Given the description of an element on the screen output the (x, y) to click on. 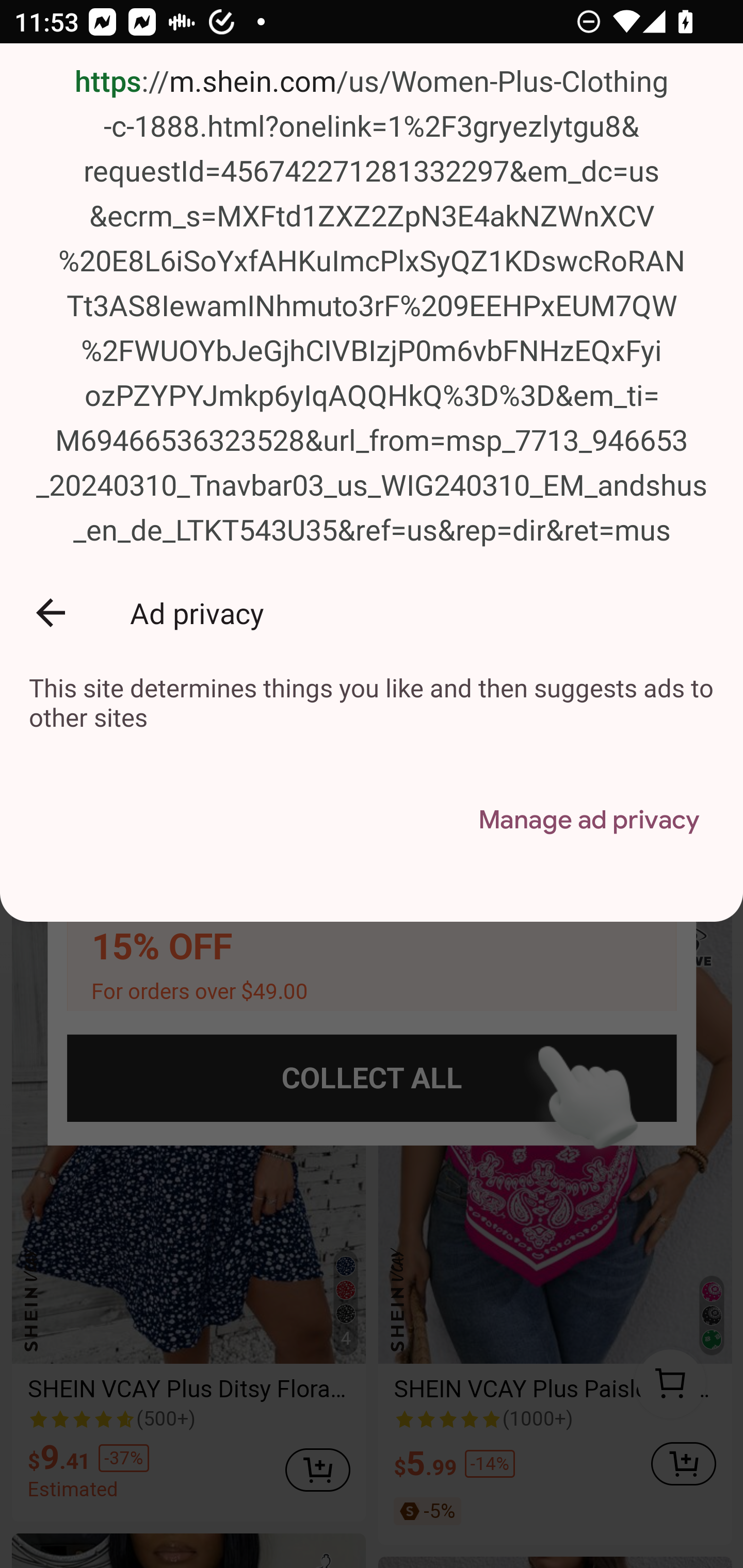
Back (50, 612)
Manage ad privacy (588, 820)
